Given the description of an element on the screen output the (x, y) to click on. 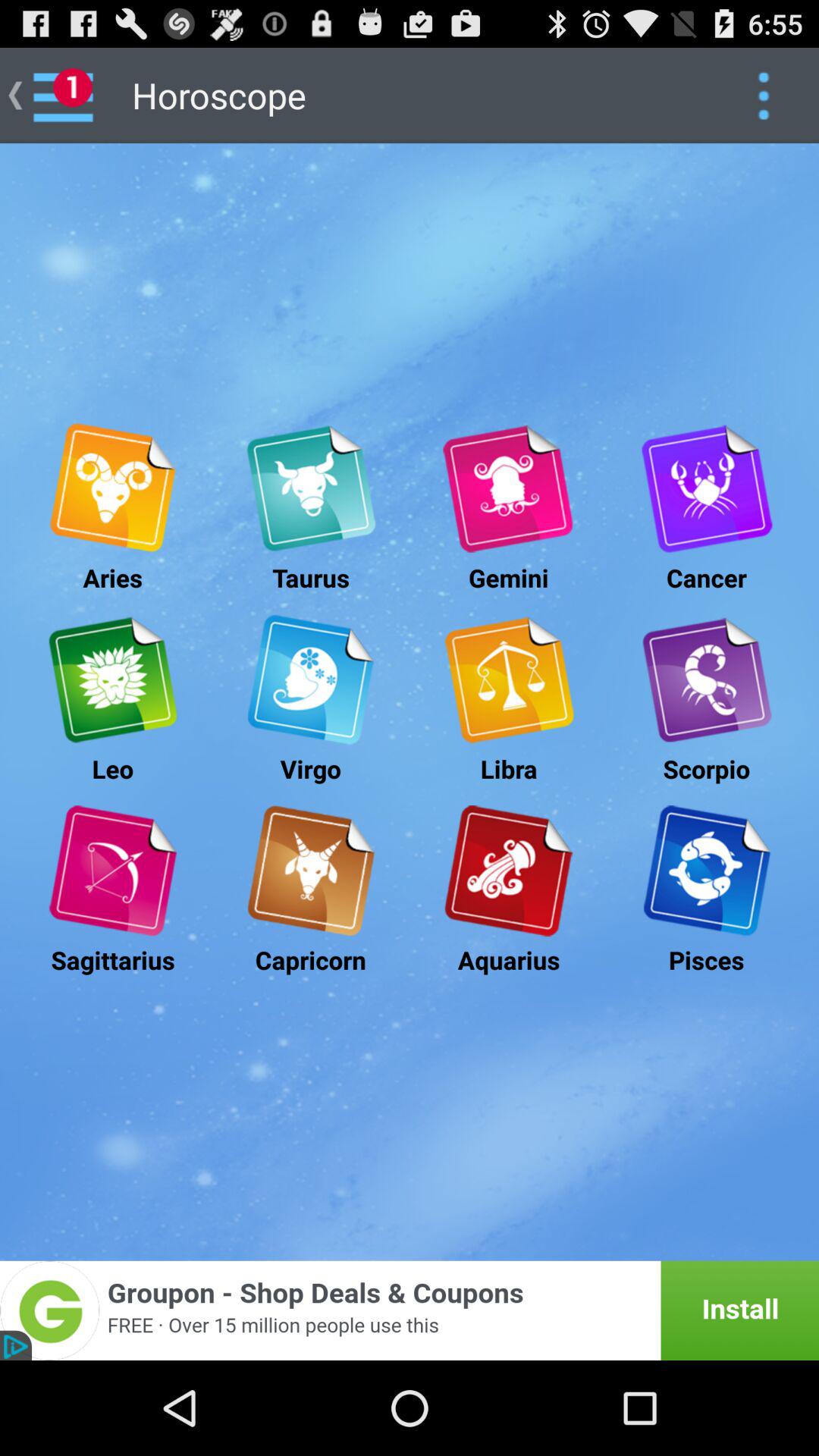
advertisement (508, 870)
